Given the description of an element on the screen output the (x, y) to click on. 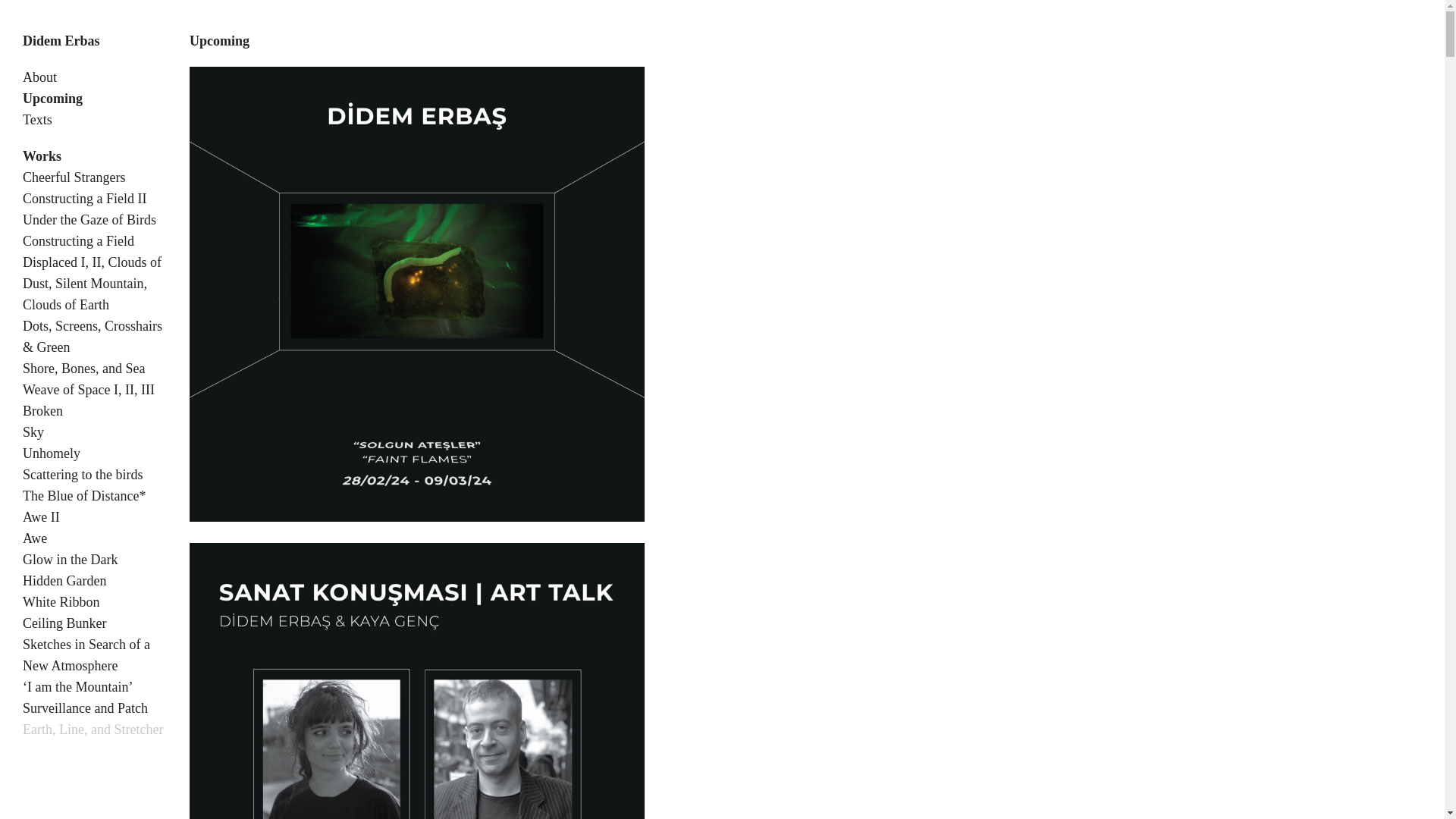
Upcoming (52, 98)
Awe II (41, 516)
About (39, 77)
Glow in the Dark (70, 559)
Surveillance and Patch (85, 708)
White Ribbon (61, 601)
Under the Gaze of Birds (89, 219)
Broken (42, 410)
Shore, Bones, and Sea (83, 368)
Unhomely (51, 453)
Constructing a Field (78, 240)
Cheerful Strangers (74, 177)
Hidden Garden (64, 580)
